Given the description of an element on the screen output the (x, y) to click on. 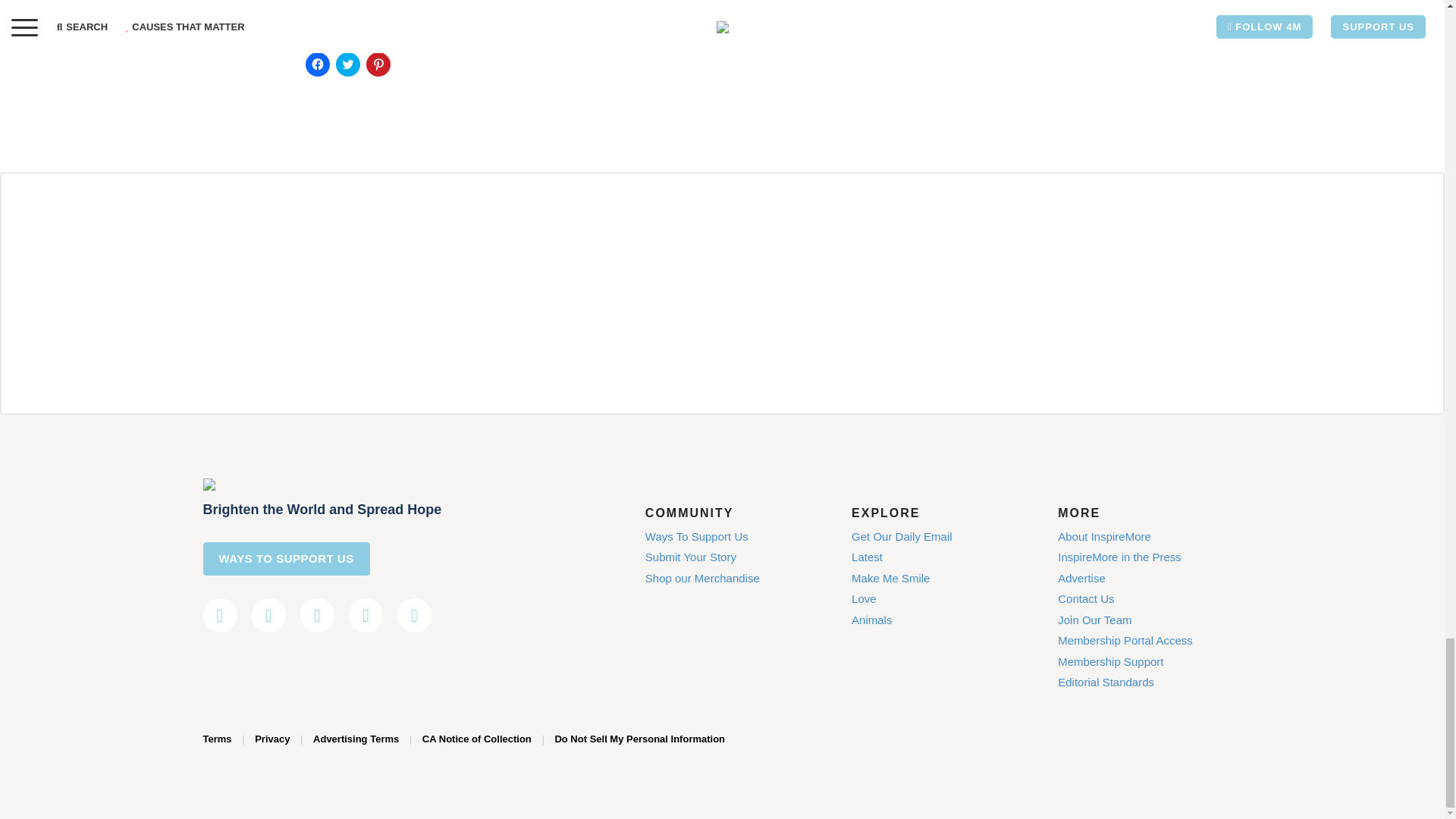
Click to share on Facebook (316, 64)
Click to share on Pinterest (377, 64)
Click to share on Twitter (346, 64)
